Given the description of an element on the screen output the (x, y) to click on. 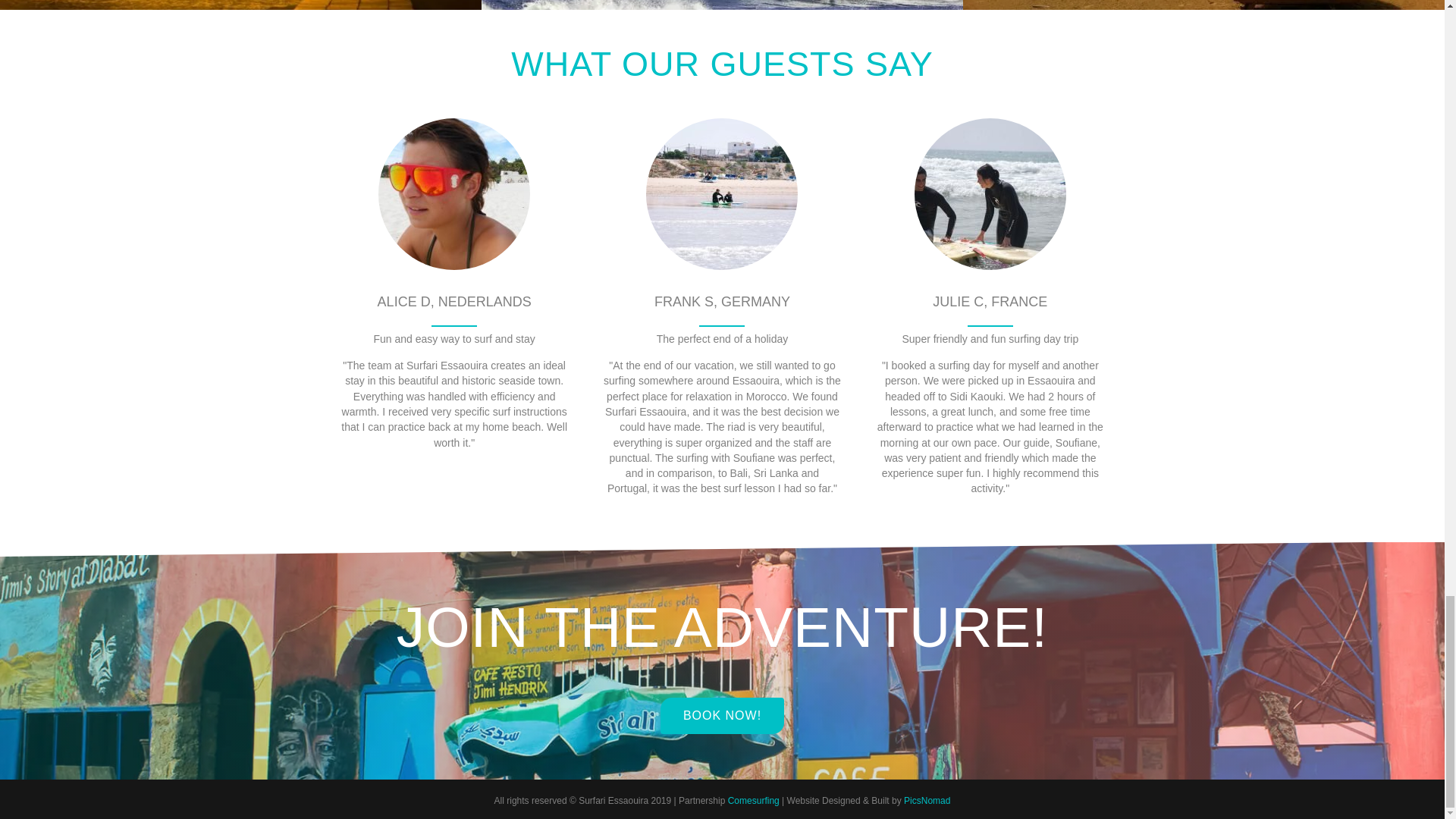
Surfari Essaouira Morocco (989, 193)
Comesurfing (753, 800)
BOOK NOW! (722, 715)
Surfari Essaouira Morocco (453, 193)
Surfari Essaouira Morocco (721, 193)
PicsNomad (927, 800)
